Given the description of an element on the screen output the (x, y) to click on. 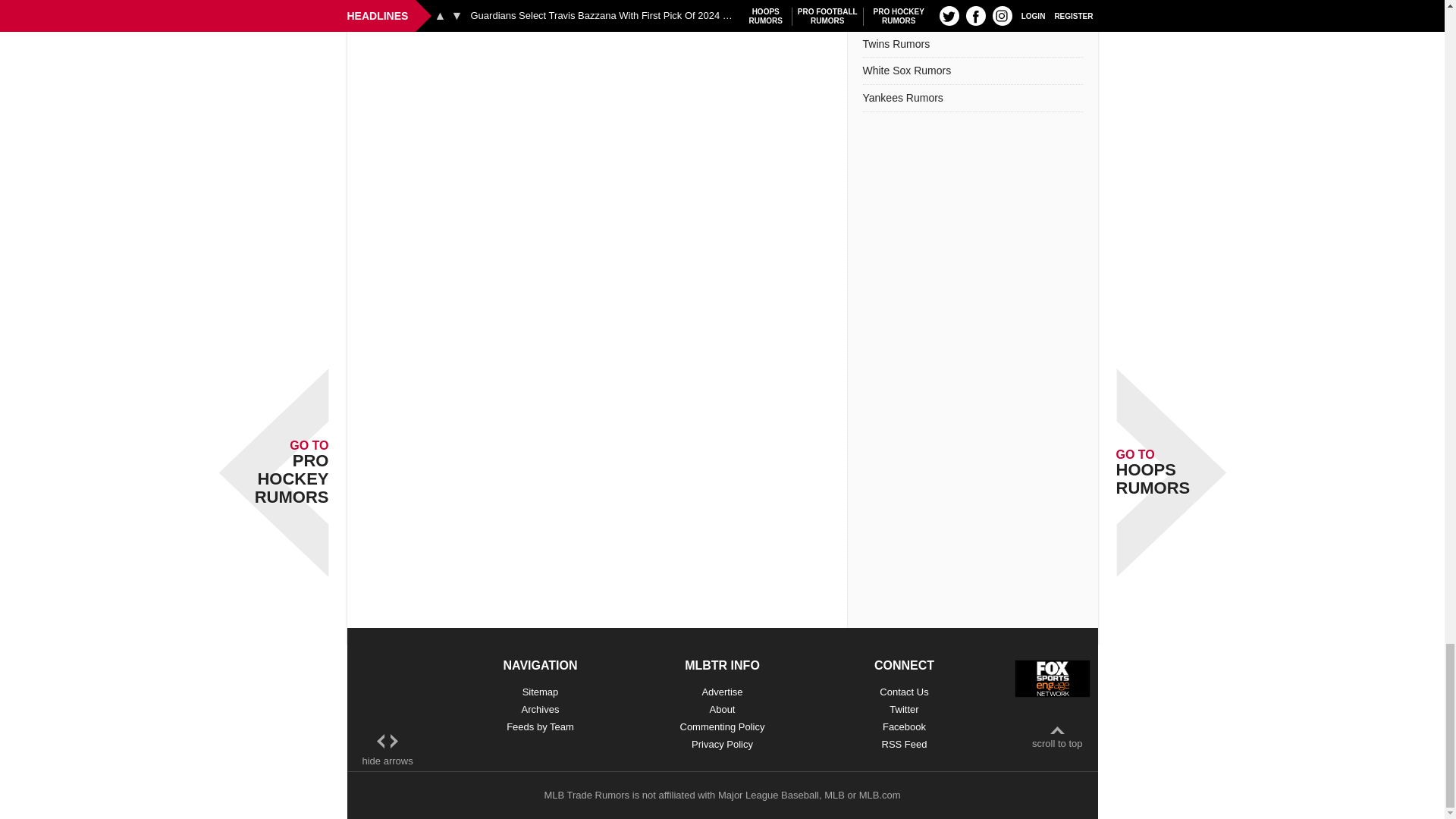
MLB Trade Rumors (585, 794)
